Given the description of an element on the screen output the (x, y) to click on. 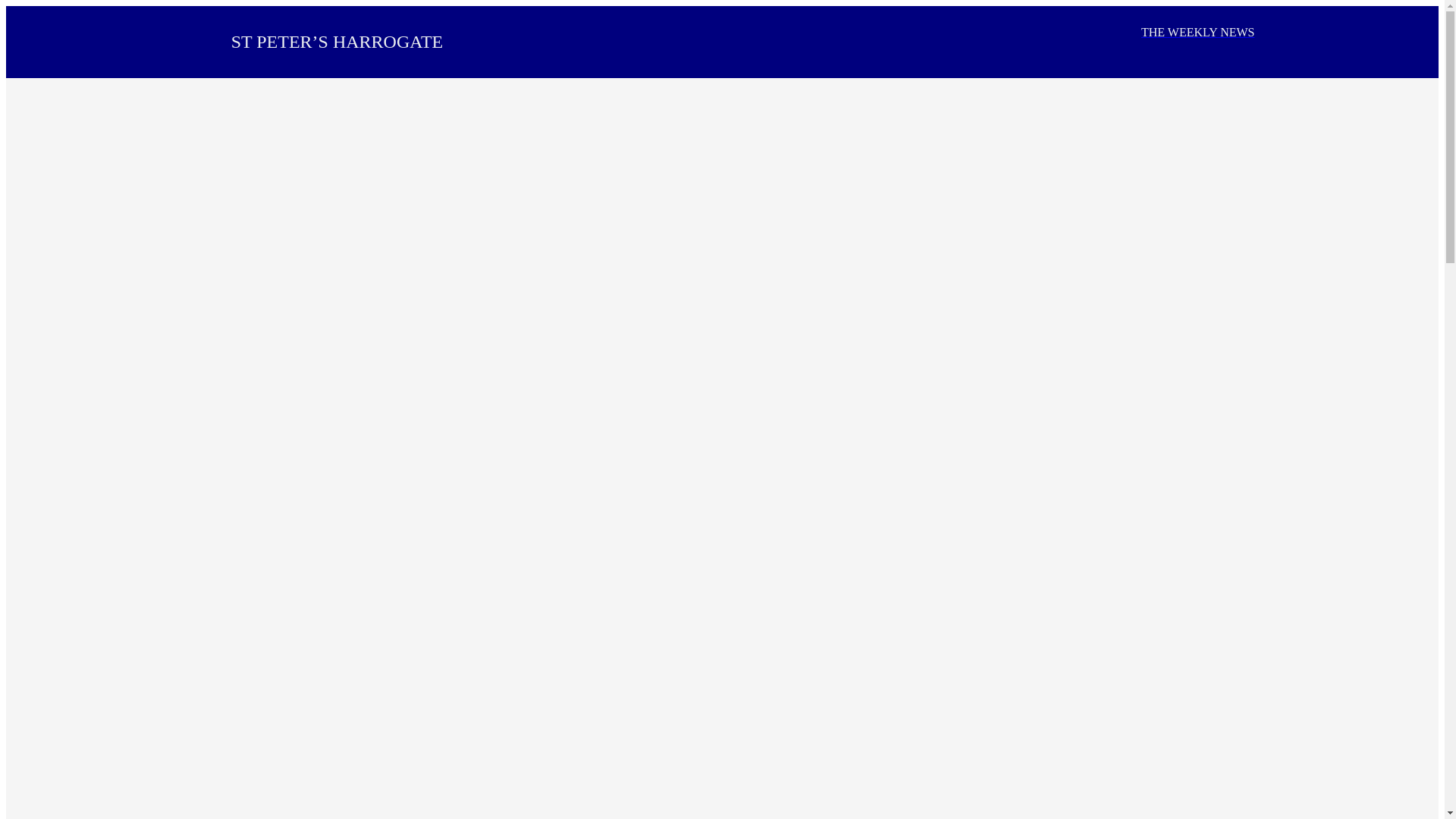
THE WEEKLY NEWS (1197, 31)
